Given the description of an element on the screen output the (x, y) to click on. 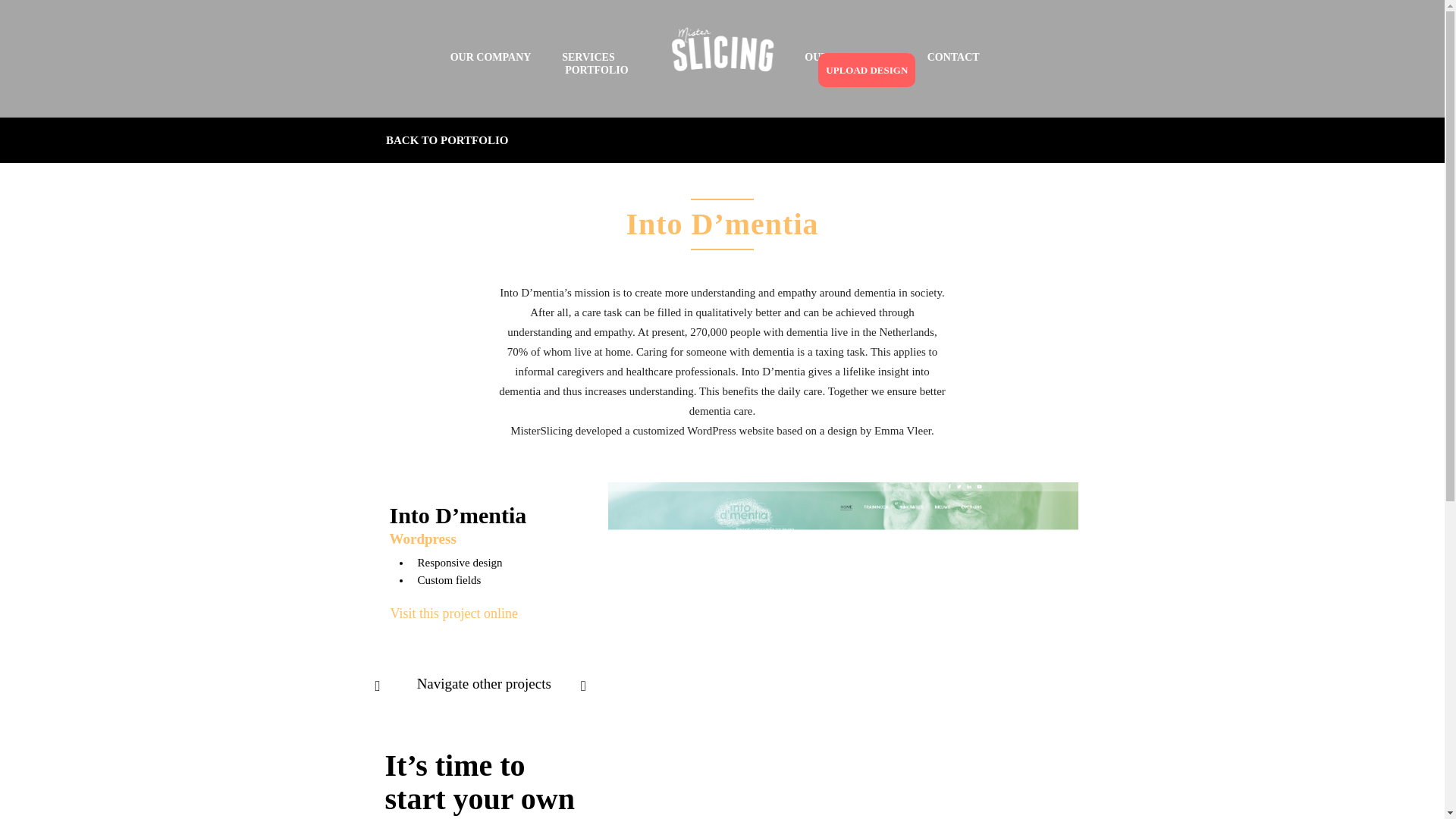
BLOG (894, 57)
SERVICES (588, 57)
Visit this project online (454, 613)
BACK TO PORTFOLIO (446, 140)
UPLOAD DESIGN (866, 69)
OUR COMPANY (490, 57)
CONTACT (953, 57)
OUR FLOW (834, 57)
PORTFOLIO (596, 70)
